Given the description of an element on the screen output the (x, y) to click on. 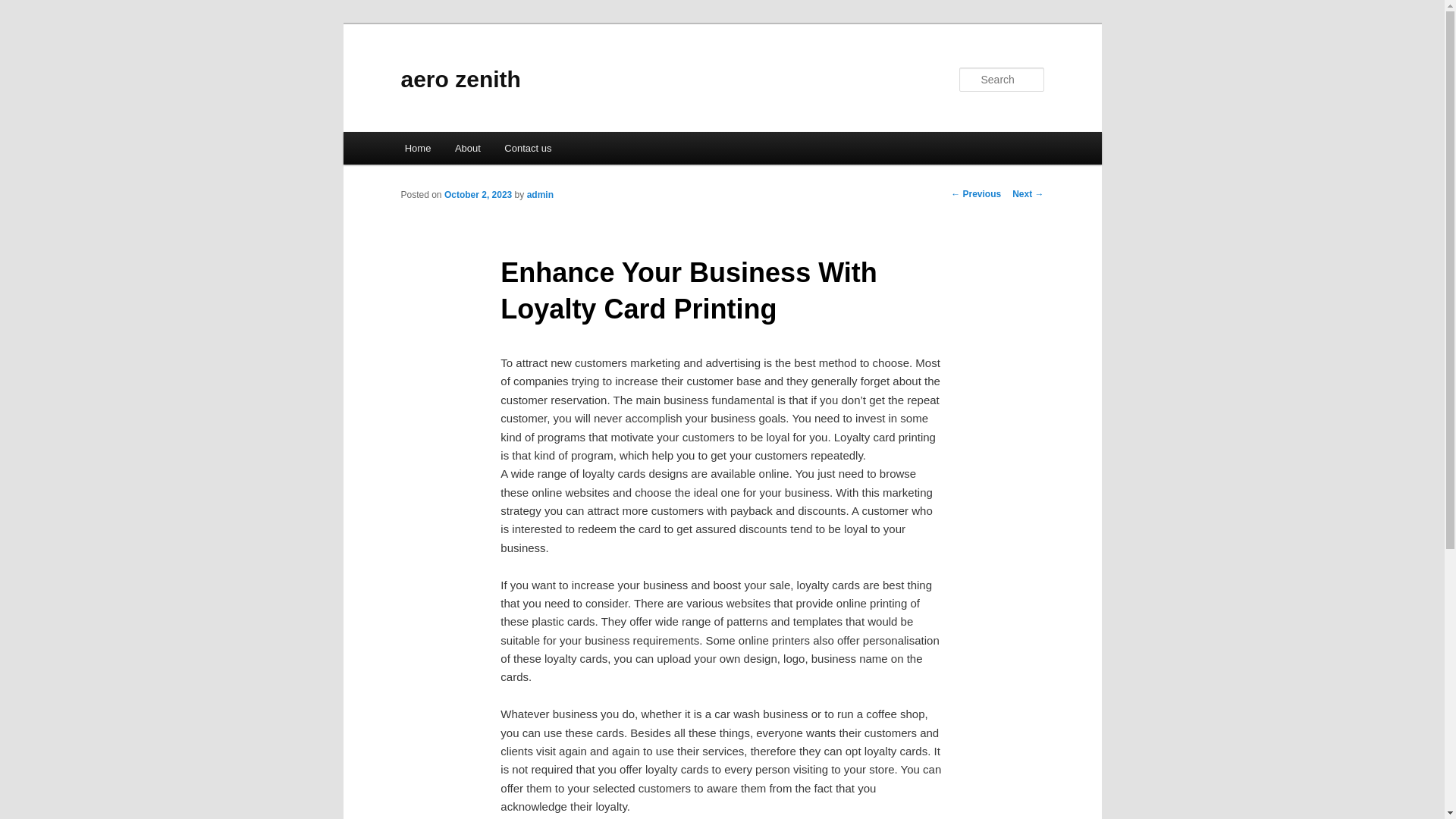
About (467, 147)
Contact us (528, 147)
About (467, 147)
Home (417, 147)
Home (417, 147)
admin (540, 194)
Search (24, 8)
View all posts by admin (540, 194)
Contact us (528, 147)
aero zenith (459, 78)
October 2, 2023 (478, 194)
9:18 pm (478, 194)
